Given the description of an element on the screen output the (x, y) to click on. 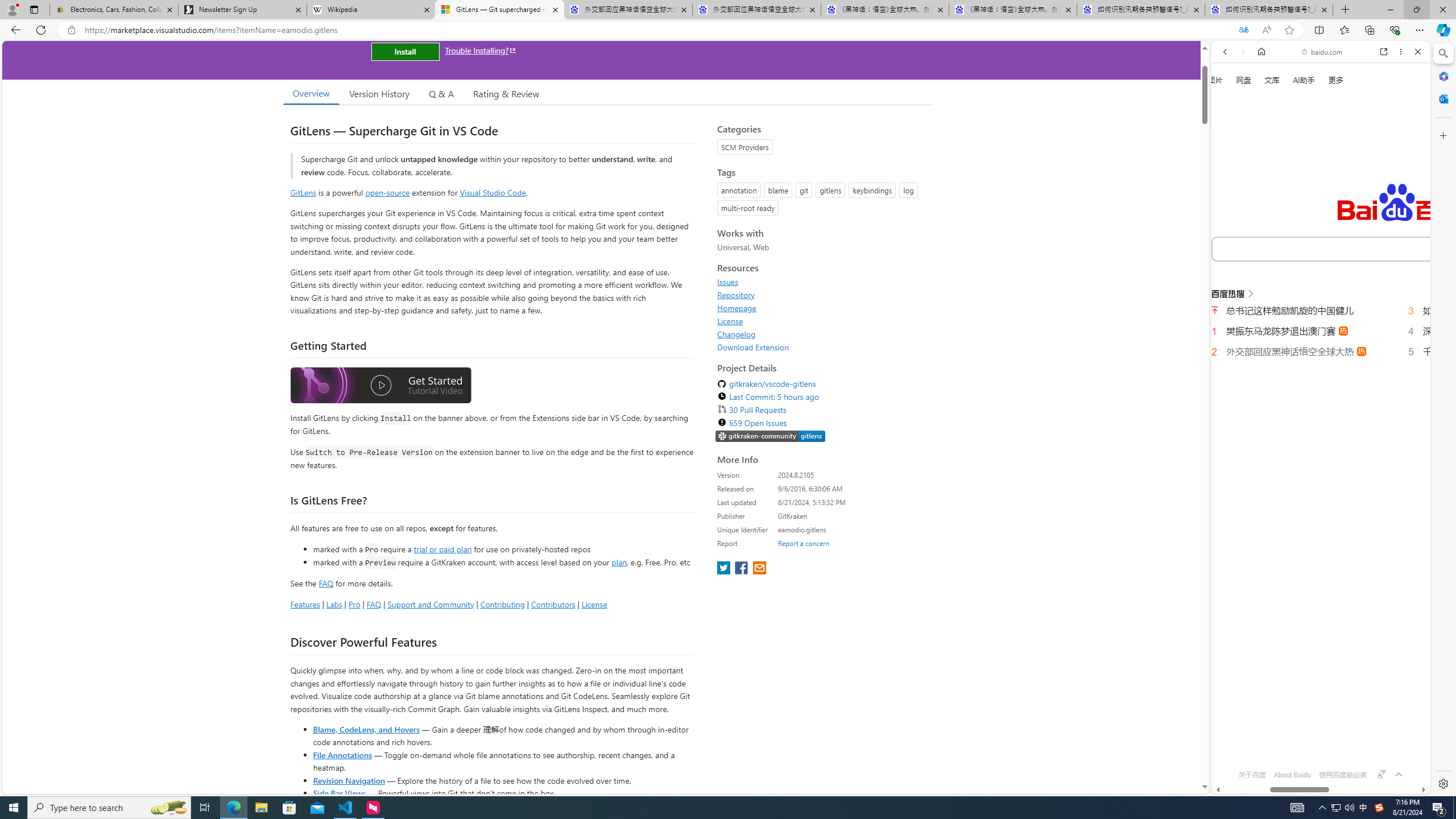
Download Extension (820, 346)
Watch the GitLens Getting Started video (380, 387)
Install (405, 51)
share extension on facebook (742, 568)
Learn more (1264, 154)
Electronics, Cars, Fashion, Collectibles & More | eBay (114, 9)
